Given the description of an element on the screen output the (x, y) to click on. 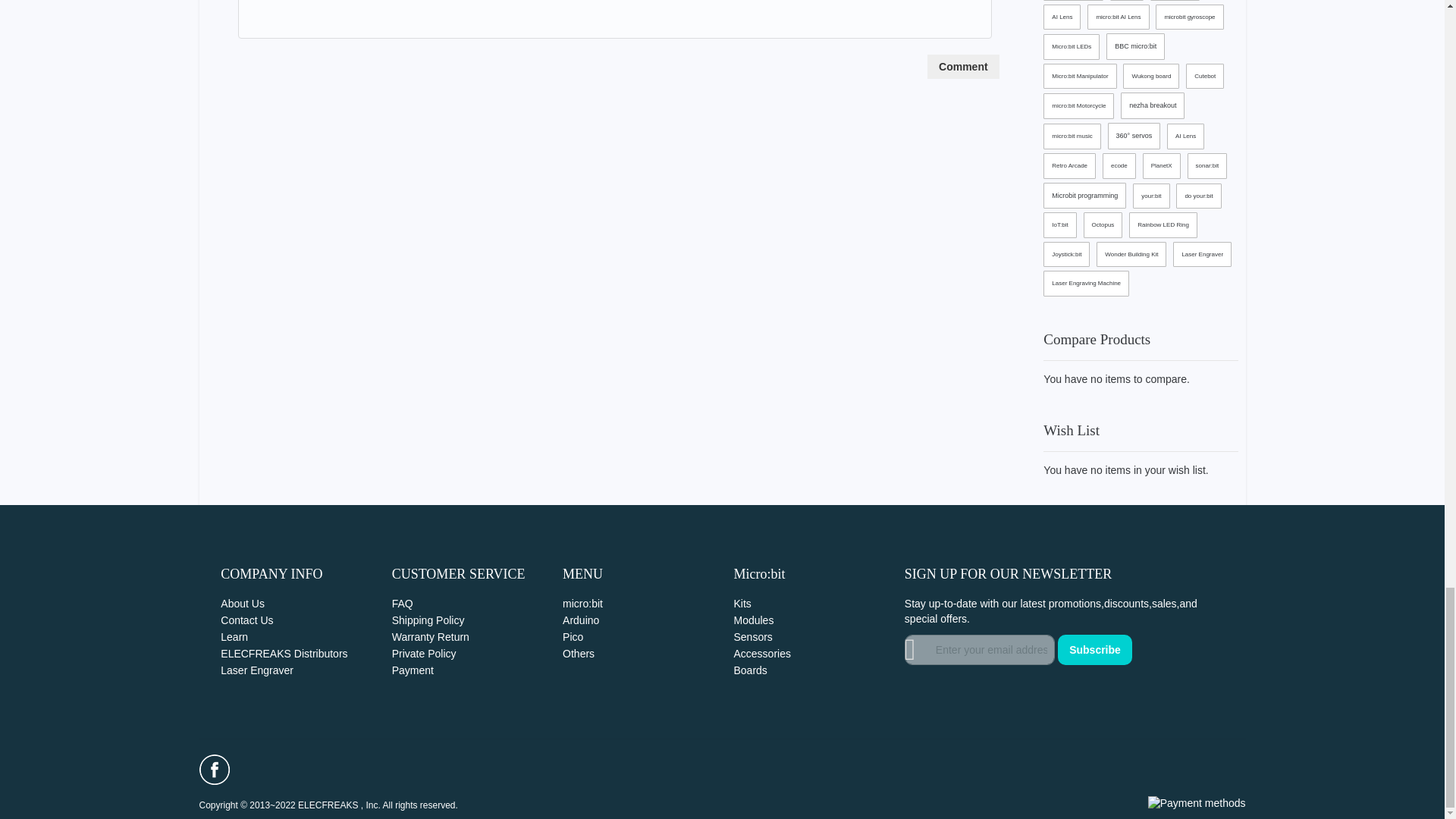
Comment (962, 66)
payment methods (1197, 803)
Subscribe (1095, 649)
